Given the description of an element on the screen output the (x, y) to click on. 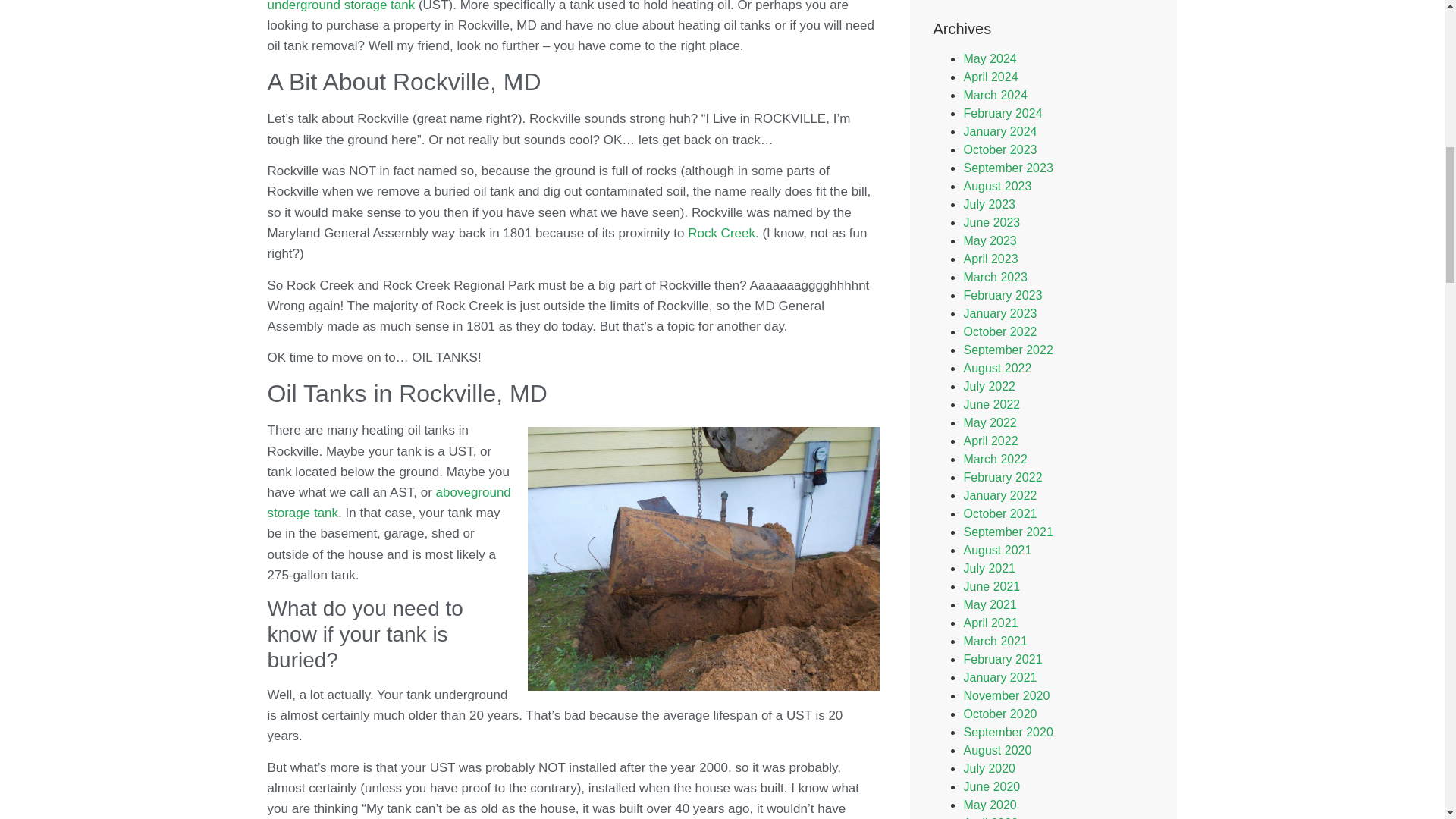
aboveground storage tank (388, 502)
Rock Creek. (721, 233)
underground storage tank (341, 6)
